Given the description of an element on the screen output the (x, y) to click on. 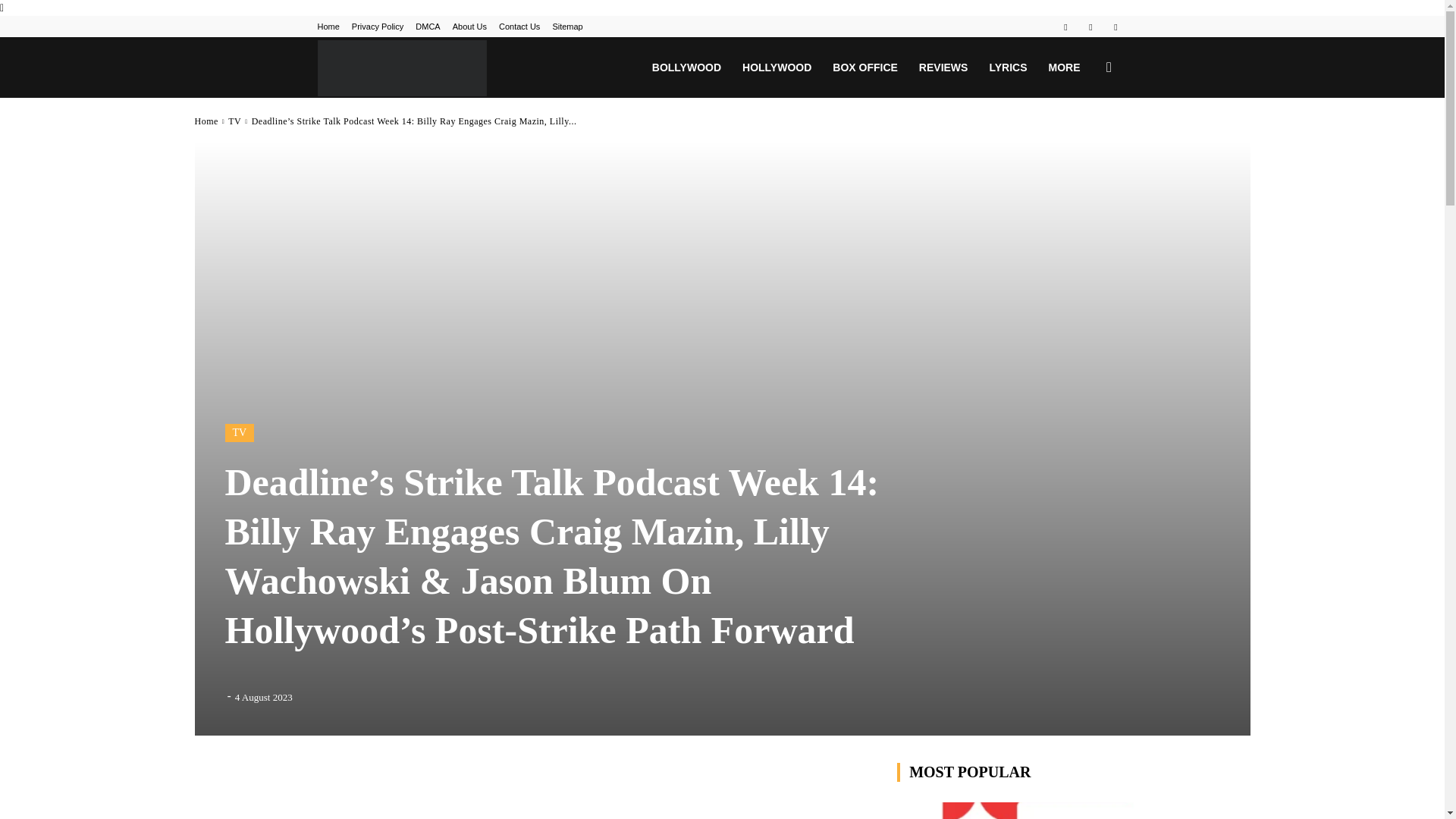
Contact Us (519, 26)
Home (328, 26)
REVIEWS (943, 66)
Facebook (1065, 25)
Sitemap (566, 26)
About Us (469, 26)
Privacy Policy (377, 26)
DMCA (426, 26)
Search (1085, 139)
HOLLYWOOD (777, 66)
Pinterest (1090, 25)
BOLLYWOOD (687, 66)
LYRICS (1007, 66)
Twitter (1114, 25)
View all posts in TV (234, 121)
